Given the description of an element on the screen output the (x, y) to click on. 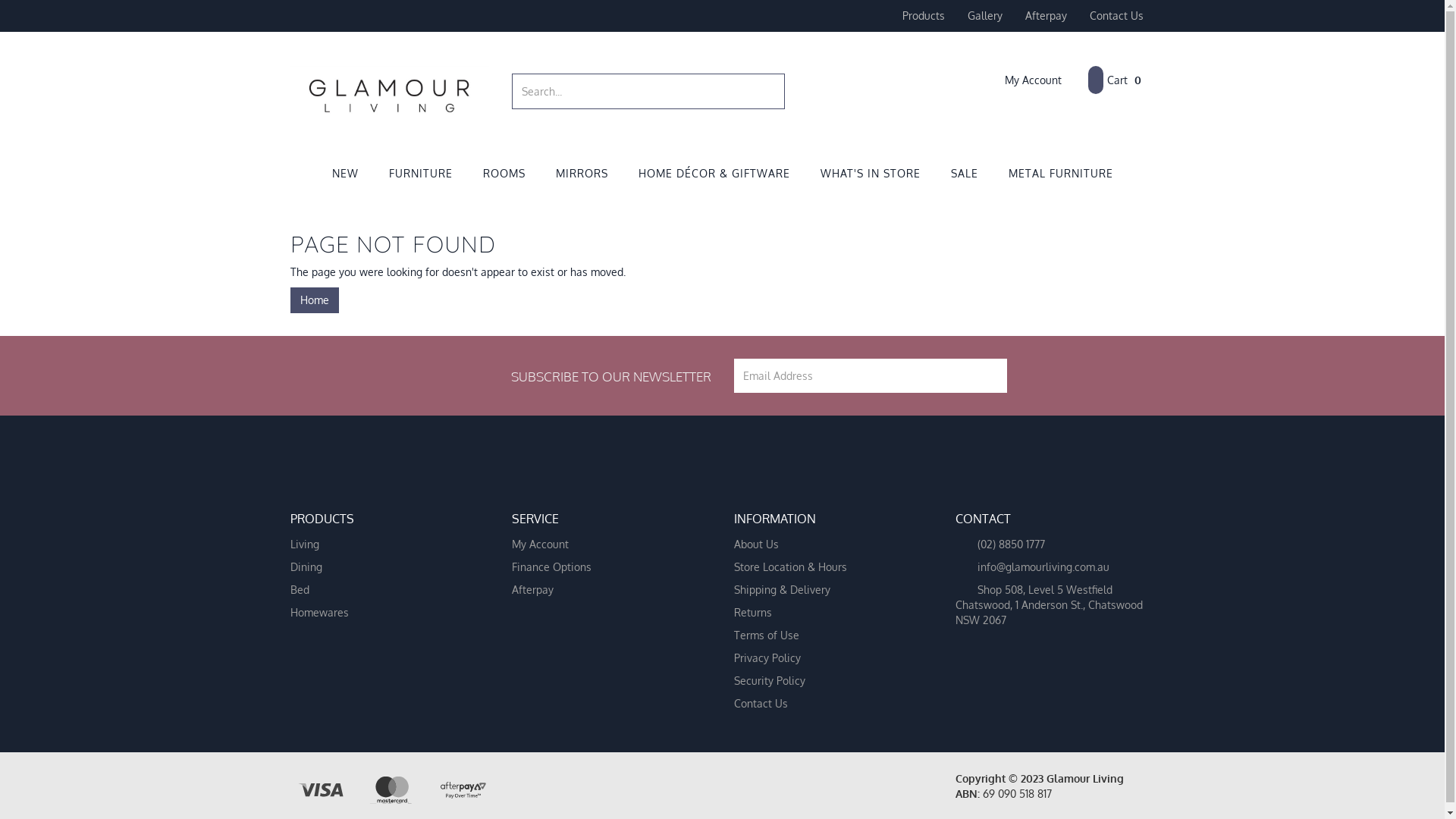
Home Element type: text (313, 300)
Terms of Use Element type: text (826, 635)
Afterpay Element type: text (1045, 15)
ROOMS Element type: text (503, 174)
Living Element type: text (384, 544)
Products Element type: text (922, 15)
Privacy Policy Element type: text (826, 657)
About Us Element type: text (826, 544)
Glamour Living Element type: hover (389, 87)
Store Location & Hours Element type: text (826, 566)
info@glamourliving.com.au Element type: text (1049, 566)
WHAT'S IN STORE Element type: text (870, 174)
Finance Options Element type: text (605, 566)
MIRRORS Element type: text (580, 174)
My Account Element type: text (605, 544)
Security Policy Element type: text (826, 680)
Homewares Element type: text (384, 612)
NEW Element type: text (344, 174)
Subscribe Element type: text (989, 375)
METAL FURNITURE Element type: text (1060, 174)
Cart 0 Element type: text (1113, 80)
My Account Element type: text (1021, 80)
Contact Us Element type: text (826, 703)
Bed Element type: text (384, 589)
(02) 8850 1777 Element type: text (1049, 544)
Search Element type: text (774, 91)
SALE Element type: text (964, 174)
Shipping & Delivery Element type: text (826, 589)
FURNITURE Element type: text (420, 174)
Dining Element type: text (384, 566)
Contact Us Element type: text (1116, 15)
Afterpay Element type: text (605, 589)
Gallery Element type: text (984, 15)
Returns Element type: text (826, 612)
